Given the description of an element on the screen output the (x, y) to click on. 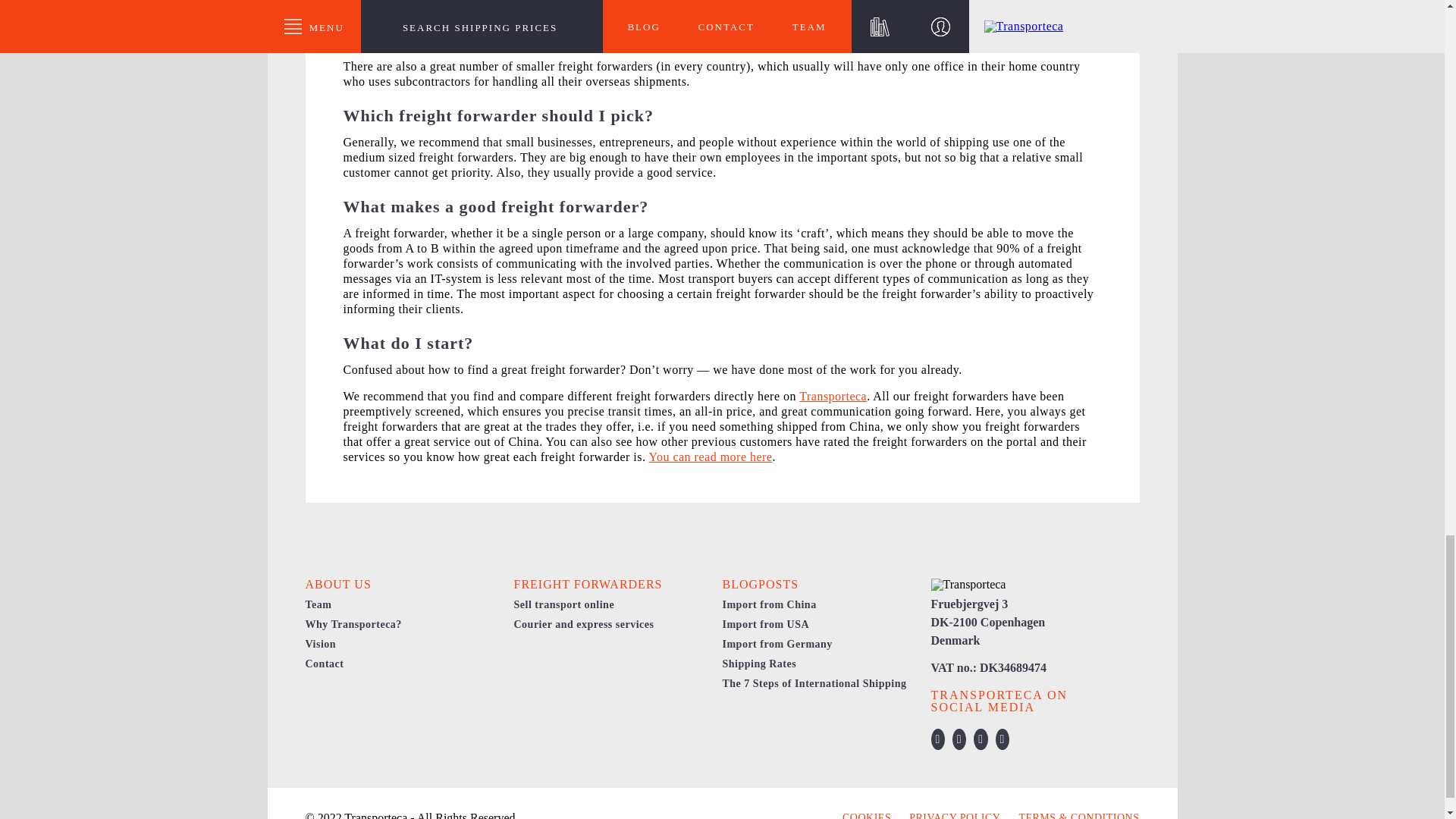
You can read more here (709, 456)
Why Transporteca? (352, 624)
Team (317, 604)
Vision (320, 644)
Transporteca (832, 395)
